Given the description of an element on the screen output the (x, y) to click on. 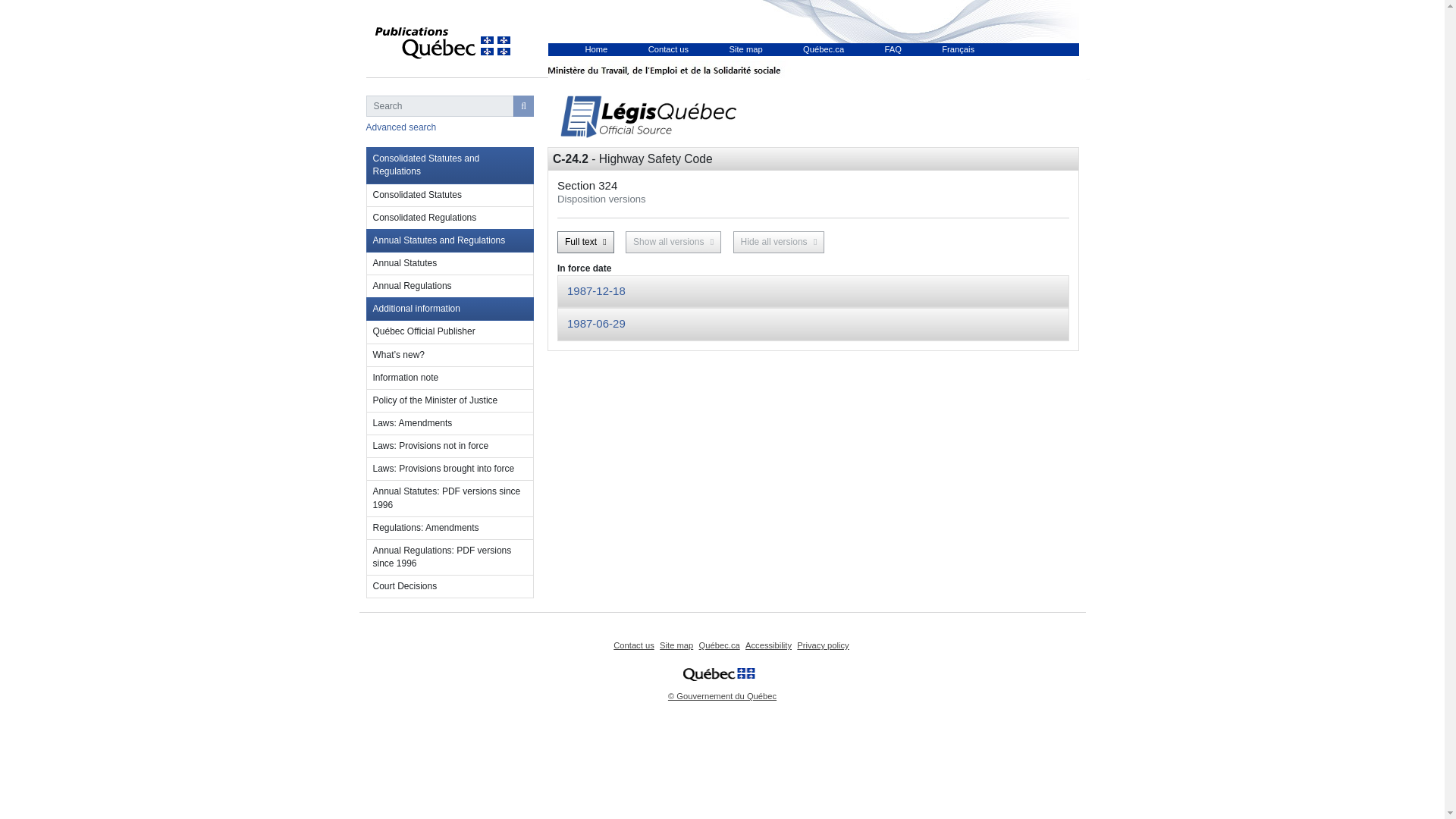
1987-12-18 (596, 290)
Information note (449, 377)
Laws: Provisions brought into force (449, 468)
1987-06-29 (596, 323)
Policy of the Minister of Justice (449, 400)
Site map (676, 645)
Contact us (633, 645)
Show all versions (673, 241)
Advanced search (400, 127)
Home (596, 49)
Annual Regulations (449, 286)
Annual Regulations: PDF versions since 1996 (449, 557)
Annual Statutes: PDF versions since 1996 (449, 498)
Regulations: Amendments (449, 527)
Consolidated Statutes (449, 195)
